Given the description of an element on the screen output the (x, y) to click on. 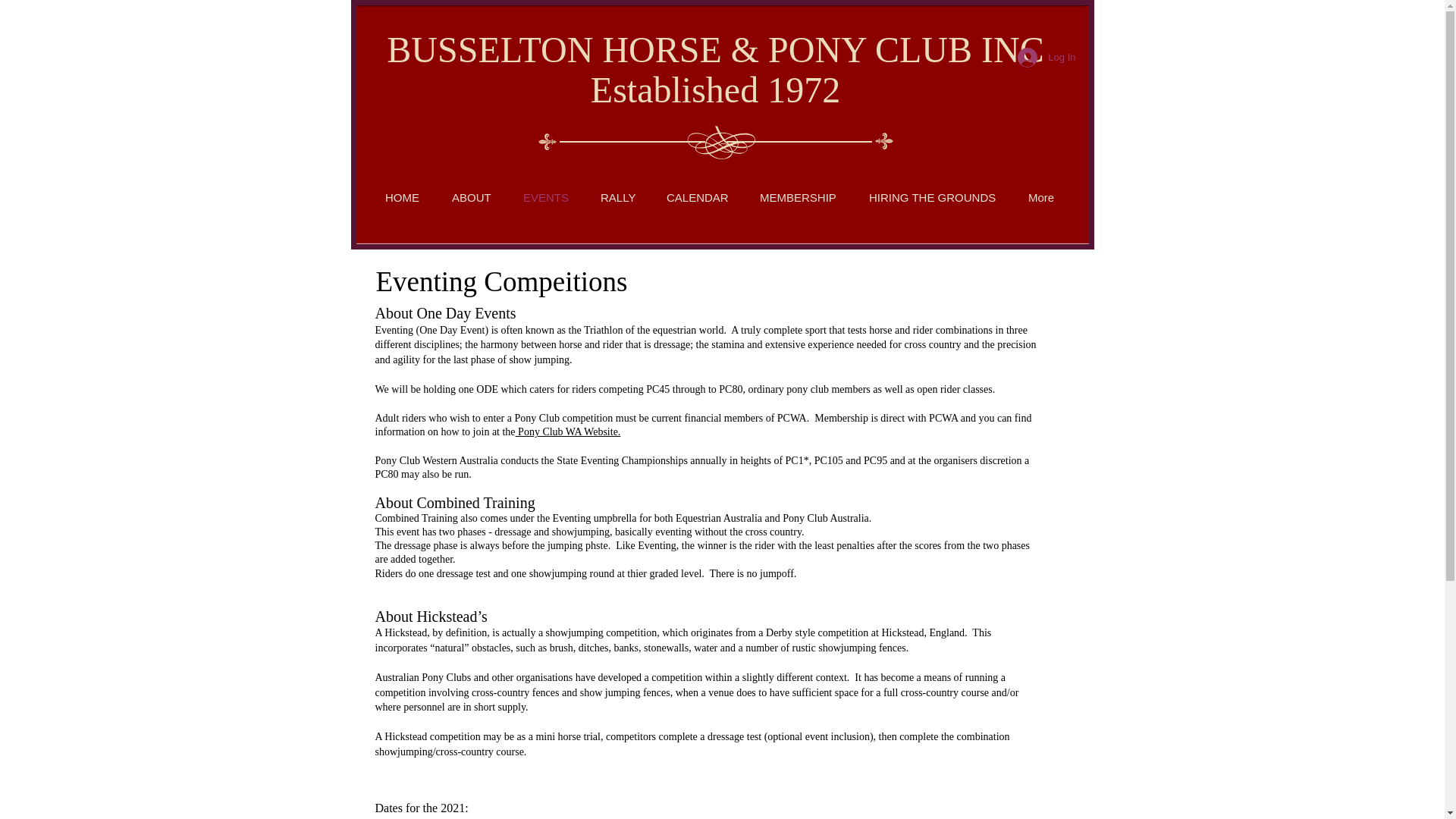
MEMBERSHIP (798, 197)
HIRING THE GROUNDS (932, 197)
Pony Club WA Website. (568, 431)
EVENTS (545, 197)
CALENDAR (697, 197)
RALLY (617, 197)
Log In (1046, 57)
Established 1972 (715, 89)
HOME (402, 197)
ABOUT (470, 197)
